Given the description of an element on the screen output the (x, y) to click on. 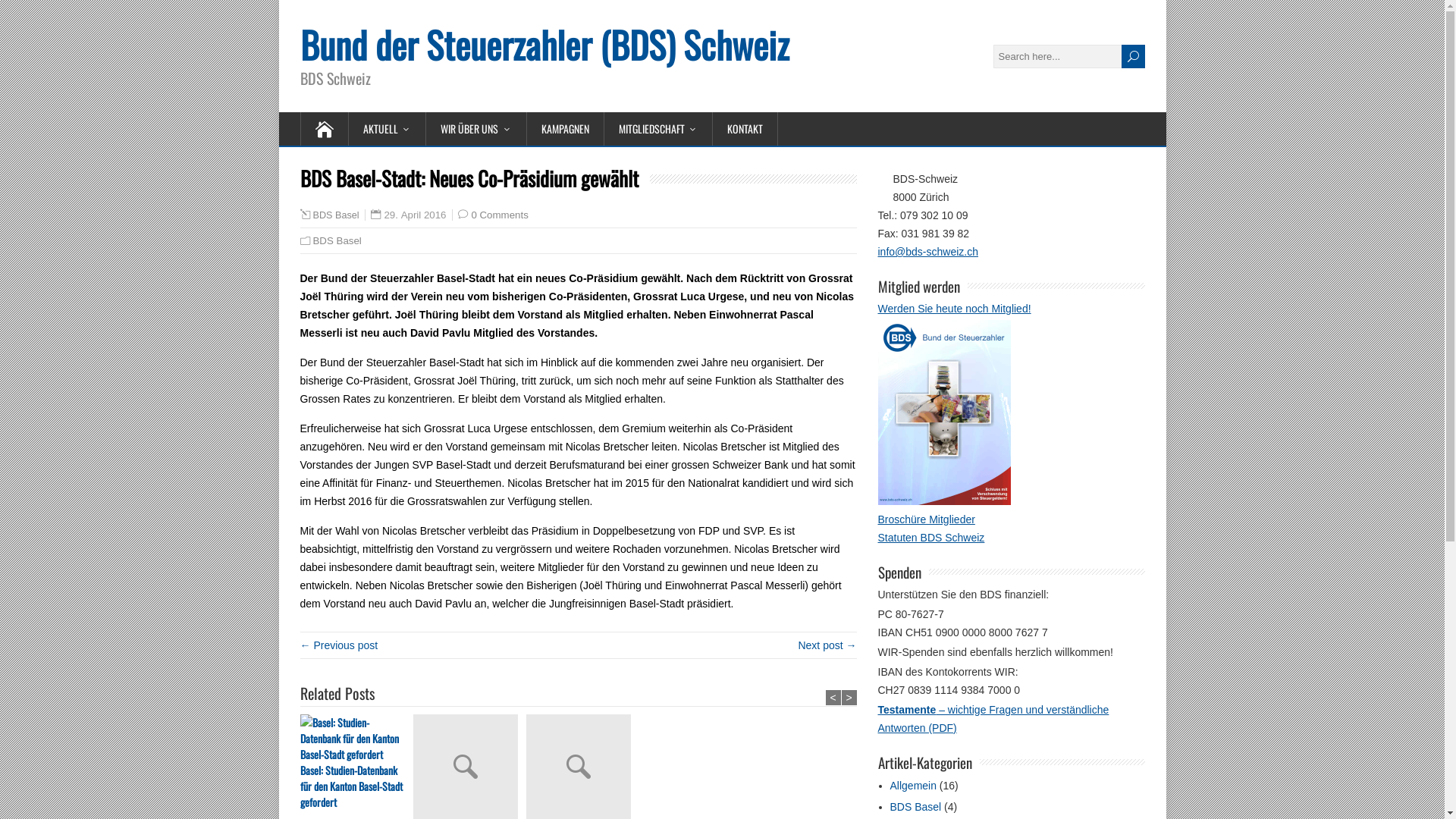
BDS Basel Element type: text (915, 806)
KAMPAGNEN Element type: text (564, 128)
BDS Basel Element type: text (336, 240)
0 Comments Element type: text (498, 214)
Statuten BDS Schweiz Element type: text (931, 537)
Bund der Steuerzahler (BDS) Schweiz Element type: text (544, 44)
info@bds-schweiz.ch Element type: text (928, 251)
AKTUELL Element type: text (387, 128)
Allgemein Element type: text (913, 785)
BDS Basel Element type: text (335, 215)
< Element type: text (832, 697)
> Element type: text (848, 697)
U Element type: text (1132, 56)
Werden Sie heute noch Mitglied! Element type: text (954, 308)
KONTAKT Element type: text (745, 128)
MITGLIEDSCHAFT Element type: text (657, 128)
